Given the description of an element on the screen output the (x, y) to click on. 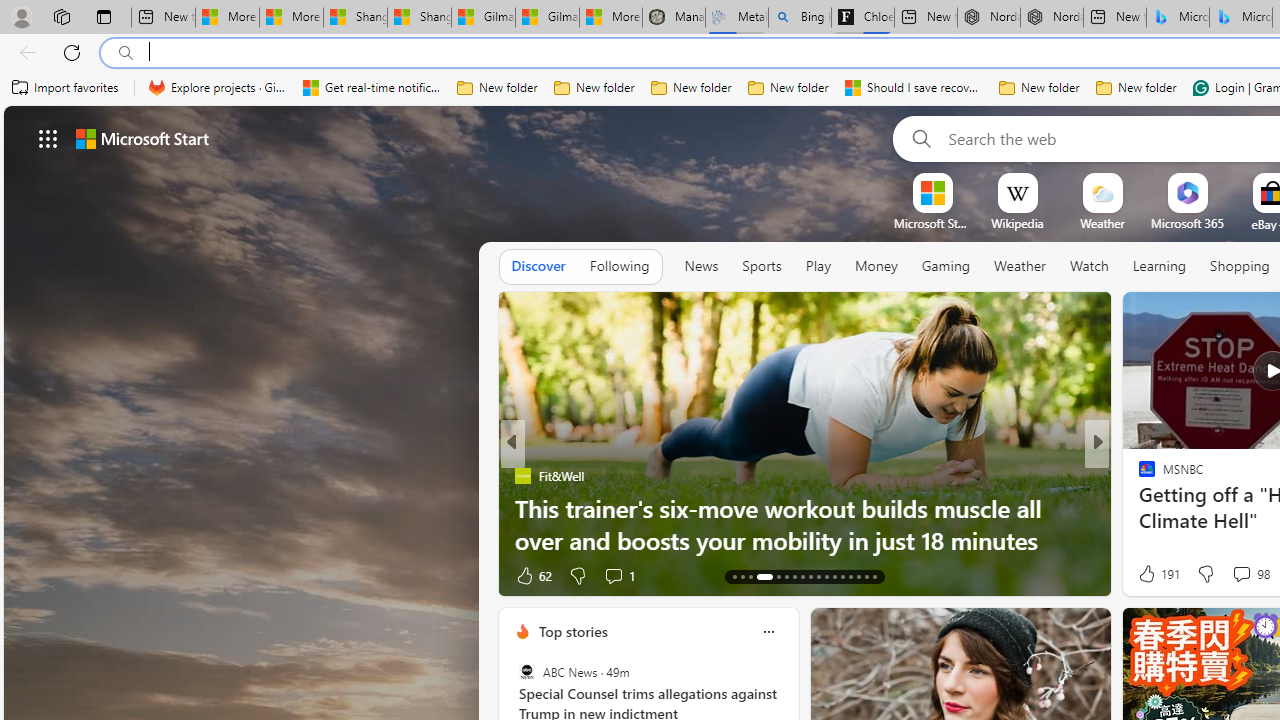
Axios (1138, 475)
Wikipedia (1017, 223)
View comments 5 Comment (619, 575)
273 Like (1151, 574)
View comments 7 Comment (1234, 574)
Forge of Empires (1175, 507)
View comments 98 Comment (1241, 573)
